Given the description of an element on the screen output the (x, y) to click on. 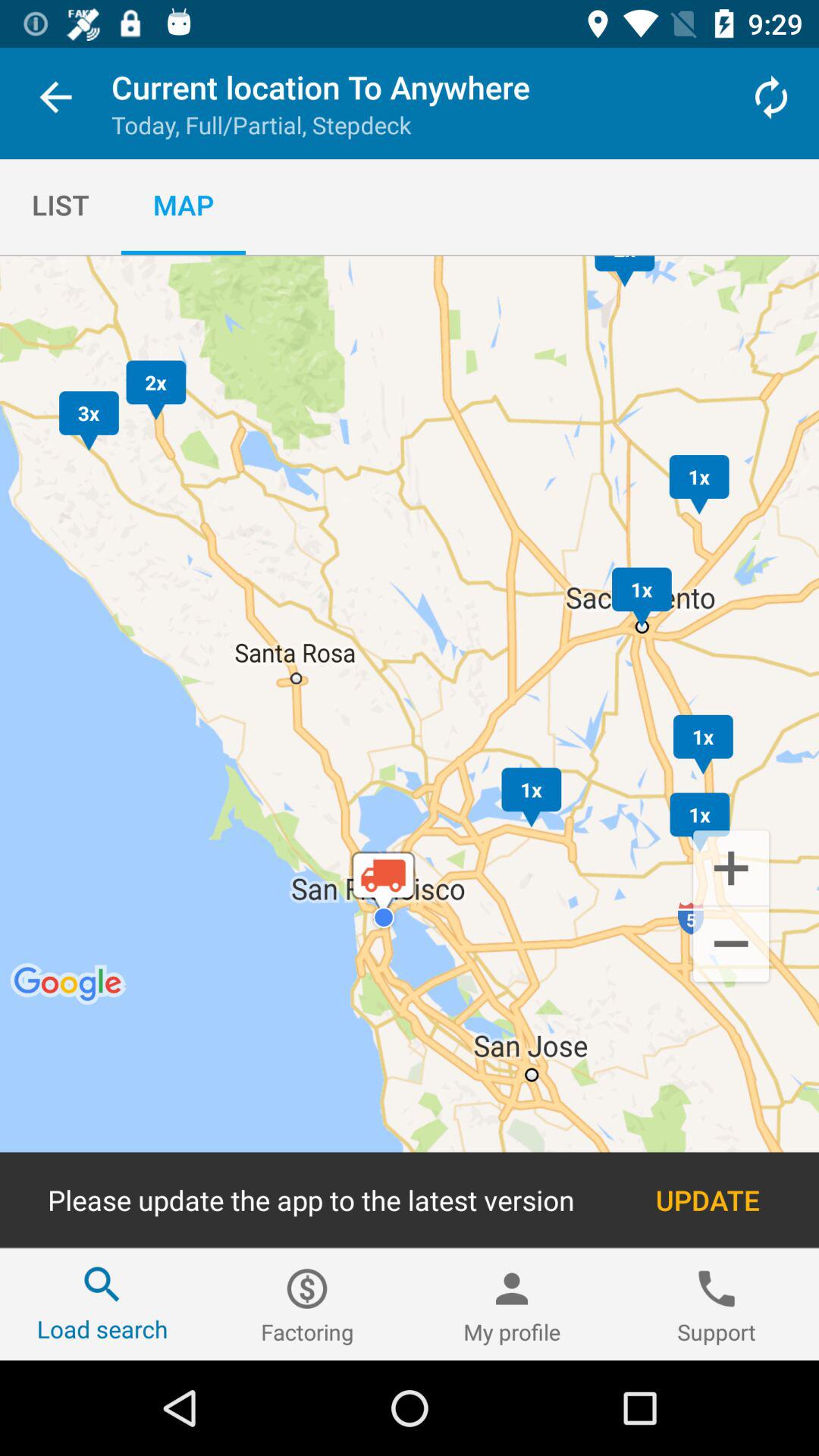
choose the icon at the center (409, 751)
